Given the description of an element on the screen output the (x, y) to click on. 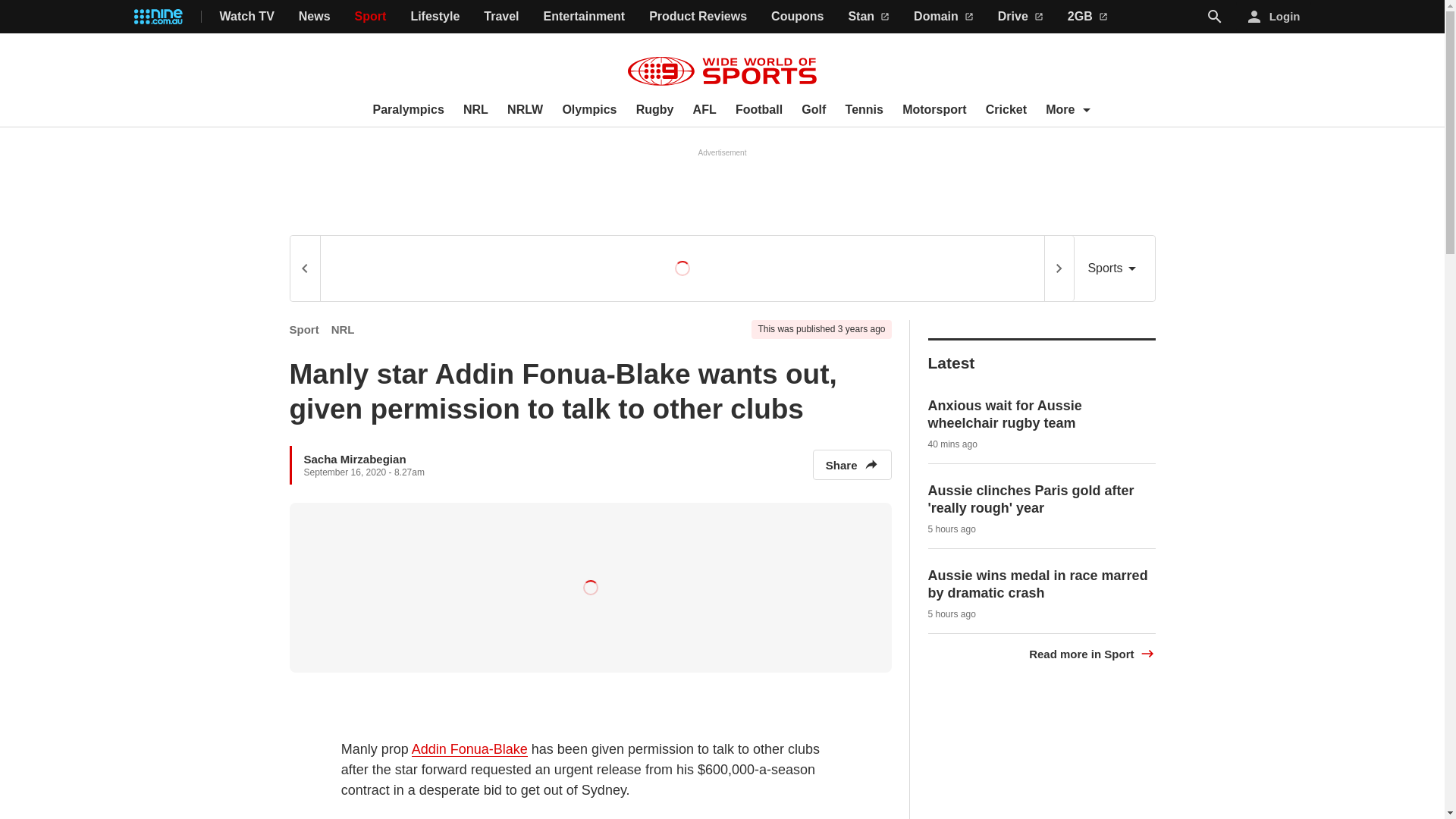
News (314, 16)
Search (1214, 16)
AFL (704, 109)
Domain (944, 16)
Rugby (654, 109)
Paralympics (407, 109)
NRL (476, 109)
Login (1273, 16)
Travel (500, 16)
Product Reviews (697, 16)
